Given the description of an element on the screen output the (x, y) to click on. 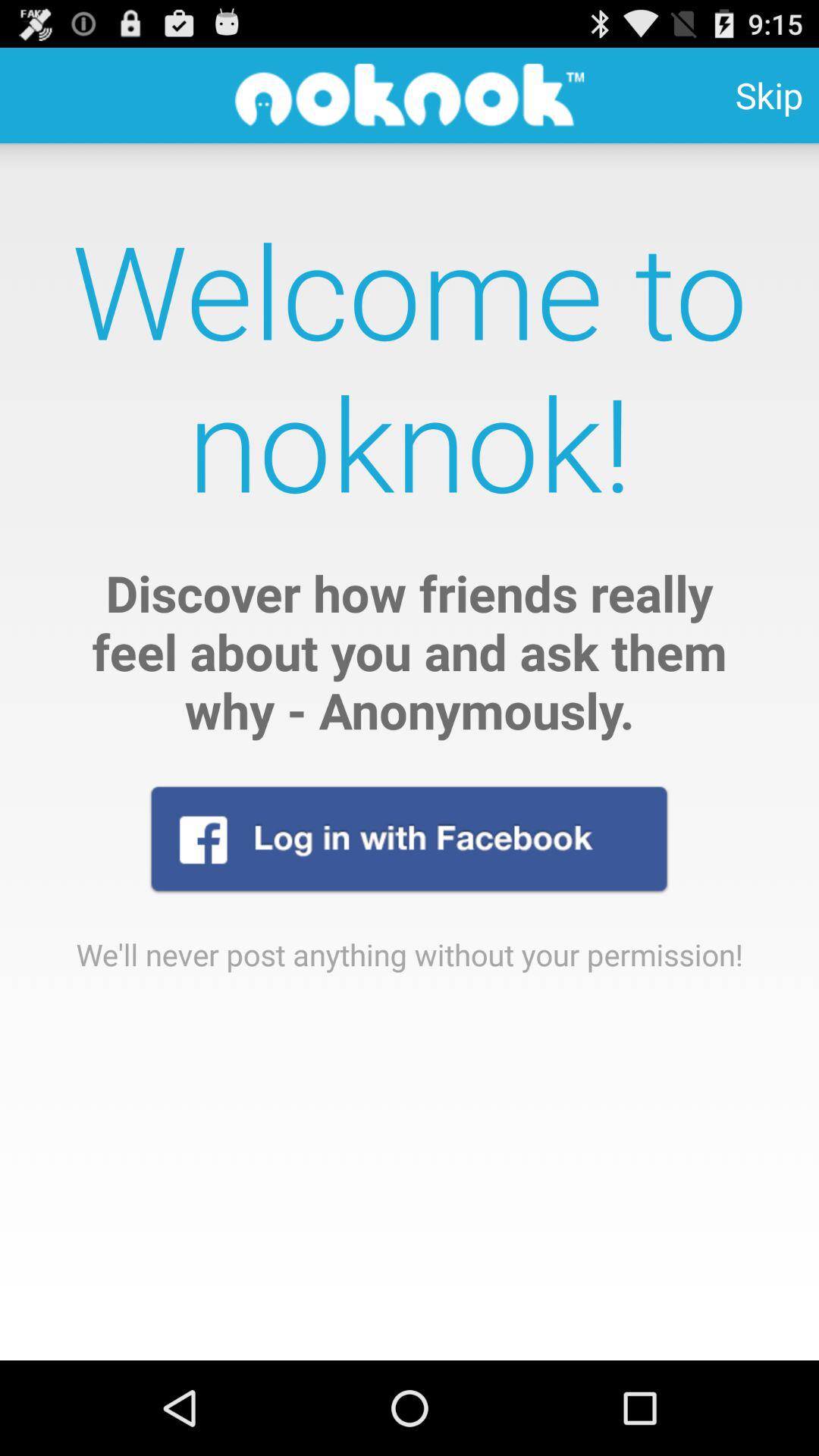
choose the icon above welcome to noknok! icon (769, 95)
